Given the description of an element on the screen output the (x, y) to click on. 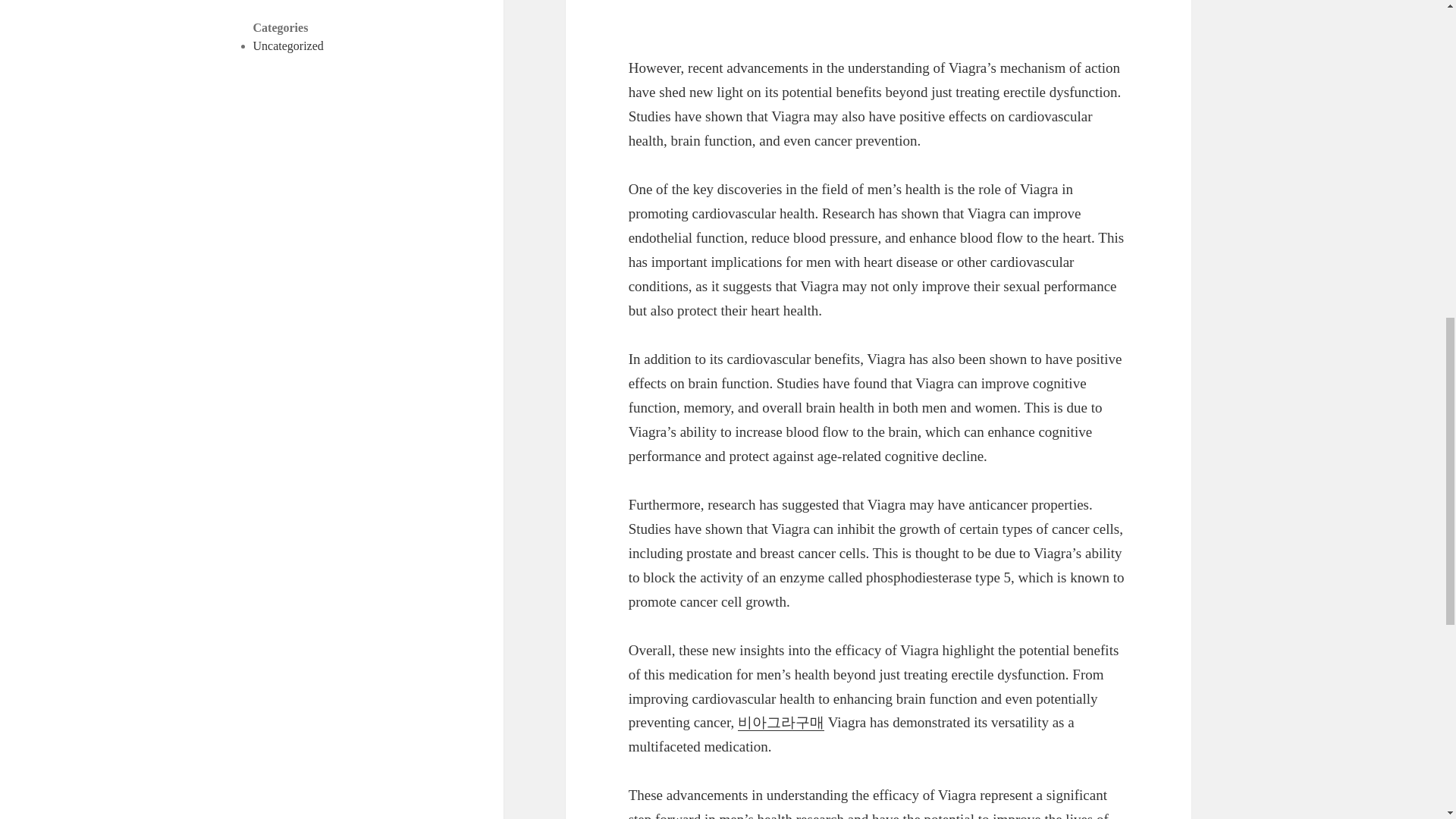
Uncategorized (288, 45)
